Given the description of an element on the screen output the (x, y) to click on. 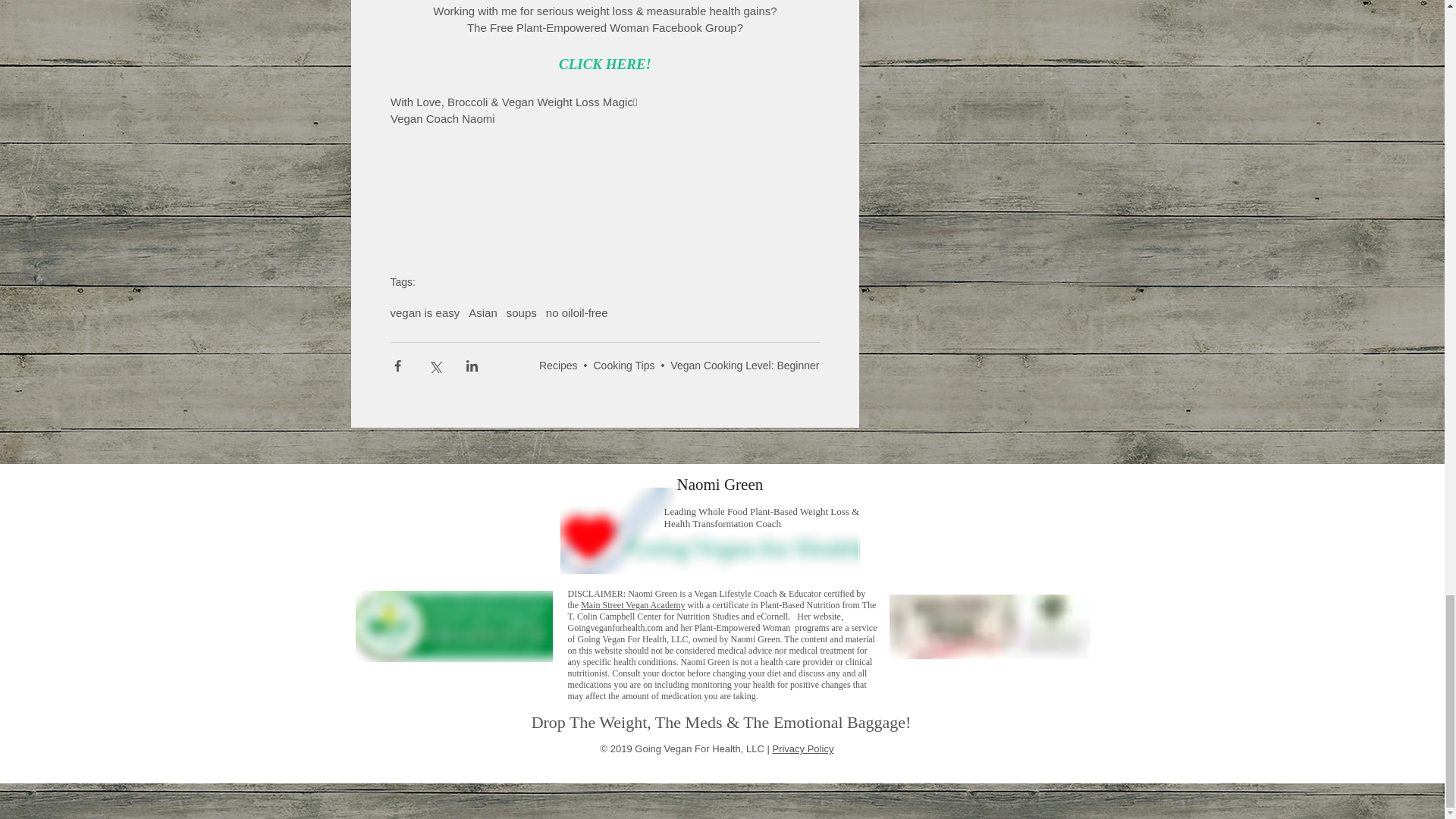
Asian (482, 312)
Cooking Tips (622, 365)
no oiloil-free (577, 312)
Main Street Vegan Academy (632, 604)
vegan is easy (425, 312)
soups (521, 312)
CLICK HERE! (604, 64)
Naomi Green (719, 484)
Recipes (558, 365)
Vegan Cooking Level: Beginner (743, 365)
Privacy Policy (801, 748)
